Given the description of an element on the screen output the (x, y) to click on. 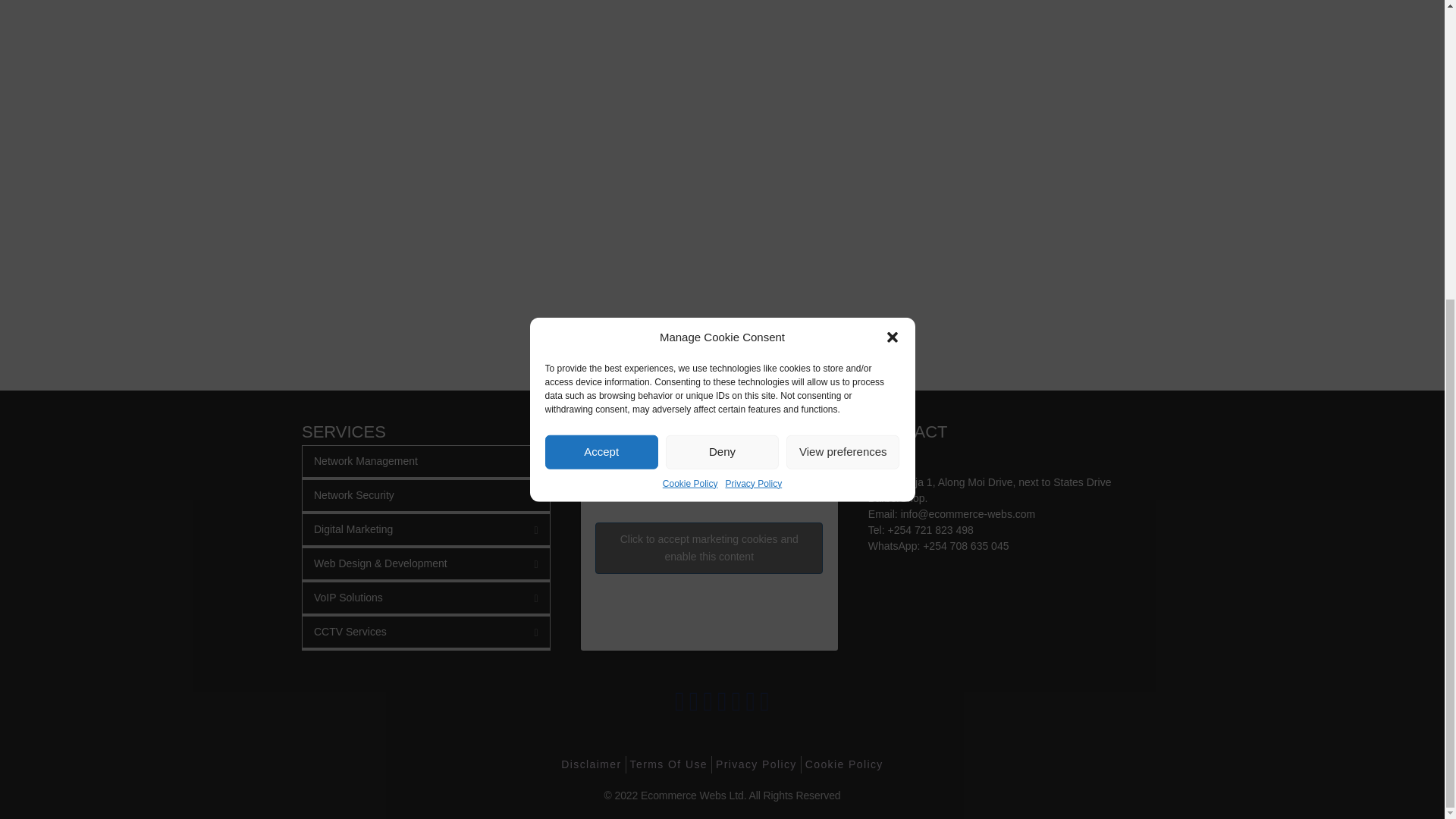
Deny (721, 321)
Cookie Policy (689, 217)
Advertisement (721, 49)
Privacy Policy (753, 190)
View preferences (842, 283)
Accept (601, 359)
